Given the description of an element on the screen output the (x, y) to click on. 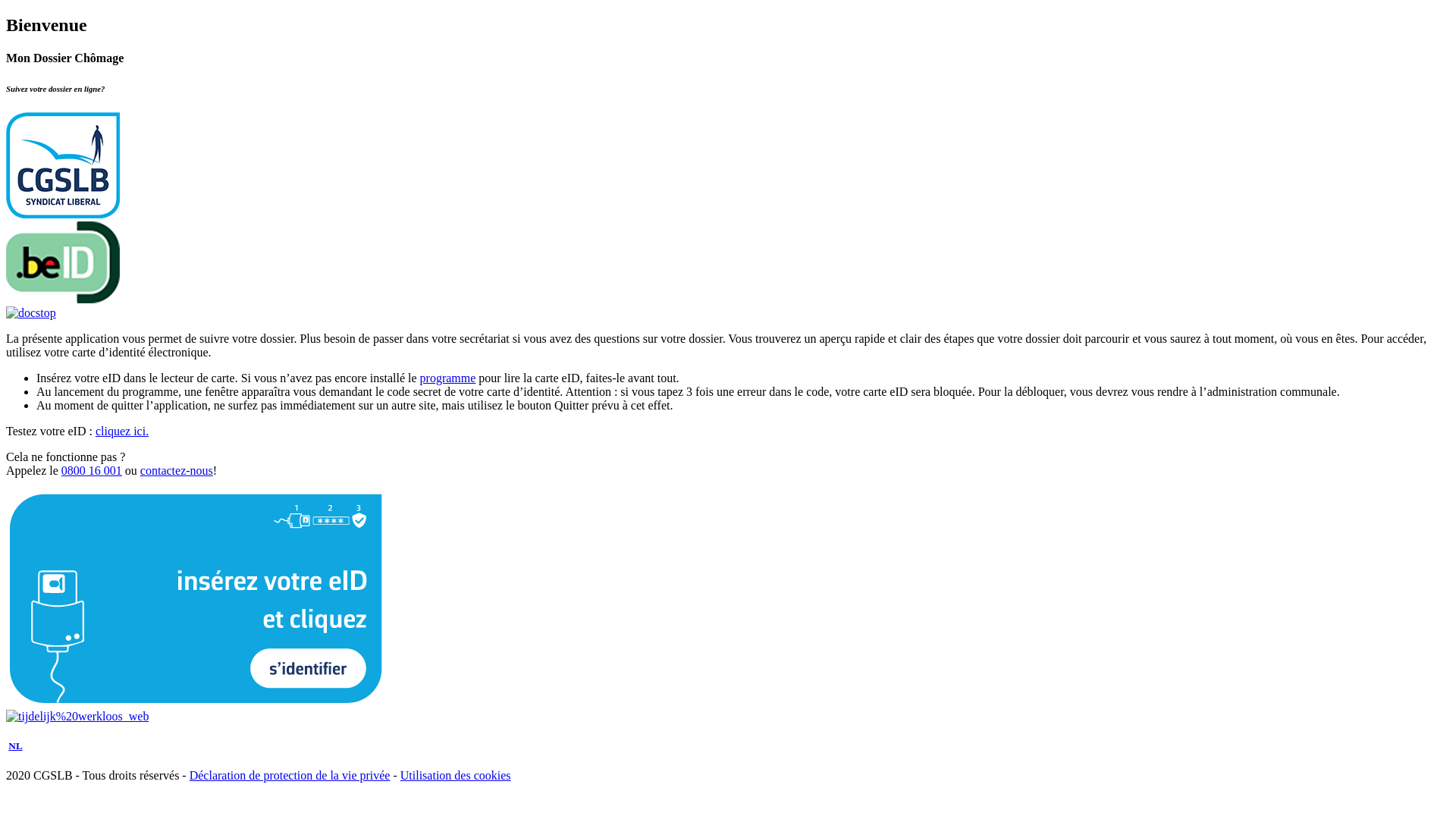
0800 16 001 Element type: text (91, 470)
cliquez ici. Element type: text (121, 430)
programme Element type: text (448, 377)
contactez-nous Element type: text (176, 470)
Utilisation des cookies Element type: text (455, 774)
NL Element type: text (14, 745)
